Given the description of an element on the screen output the (x, y) to click on. 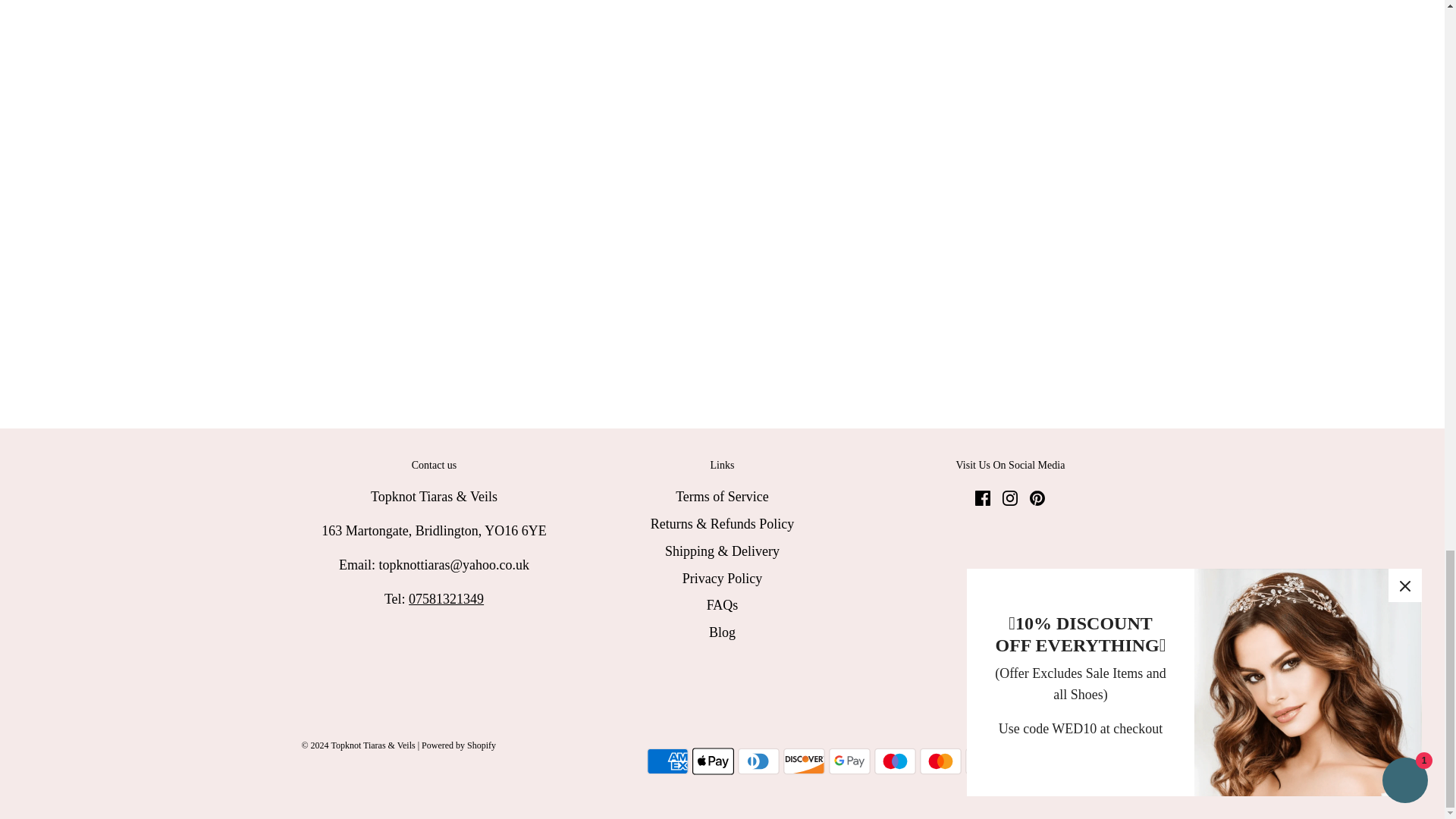
Facebook icon (982, 498)
Instagram icon (1010, 498)
Pinterest icon (1037, 498)
